Given the description of an element on the screen output the (x, y) to click on. 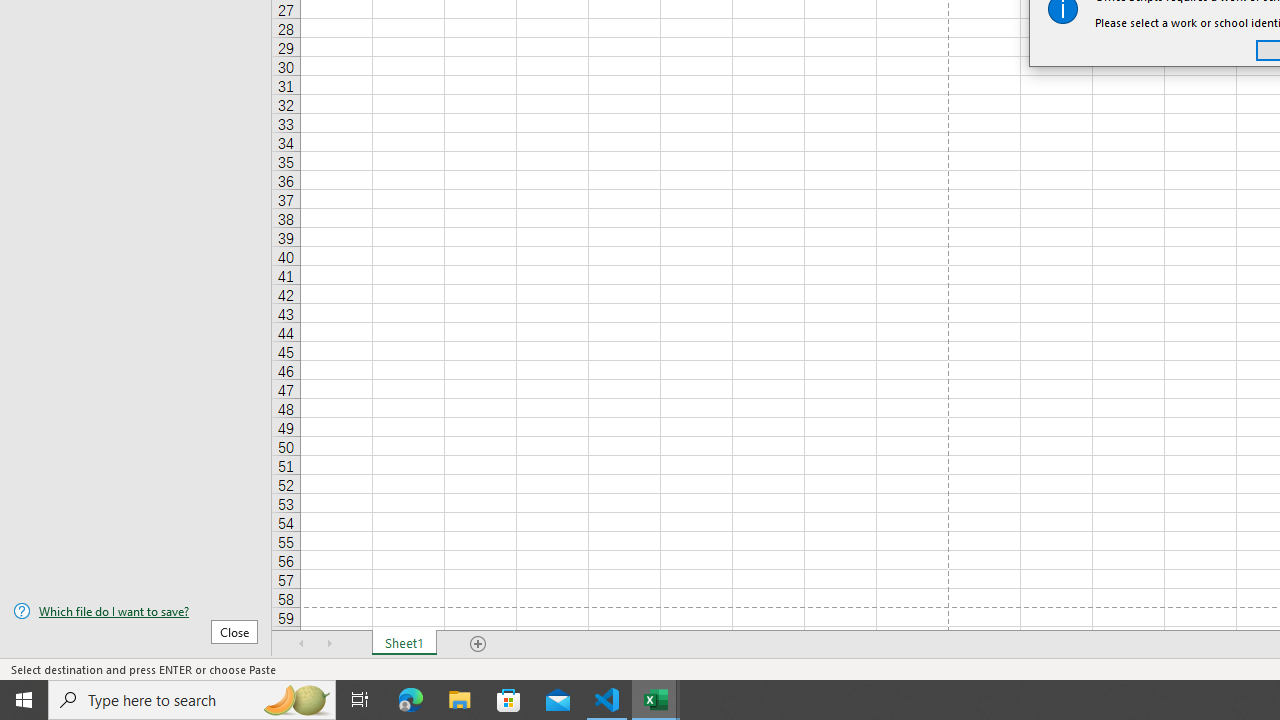
Start (24, 699)
